Given the description of an element on the screen output the (x, y) to click on. 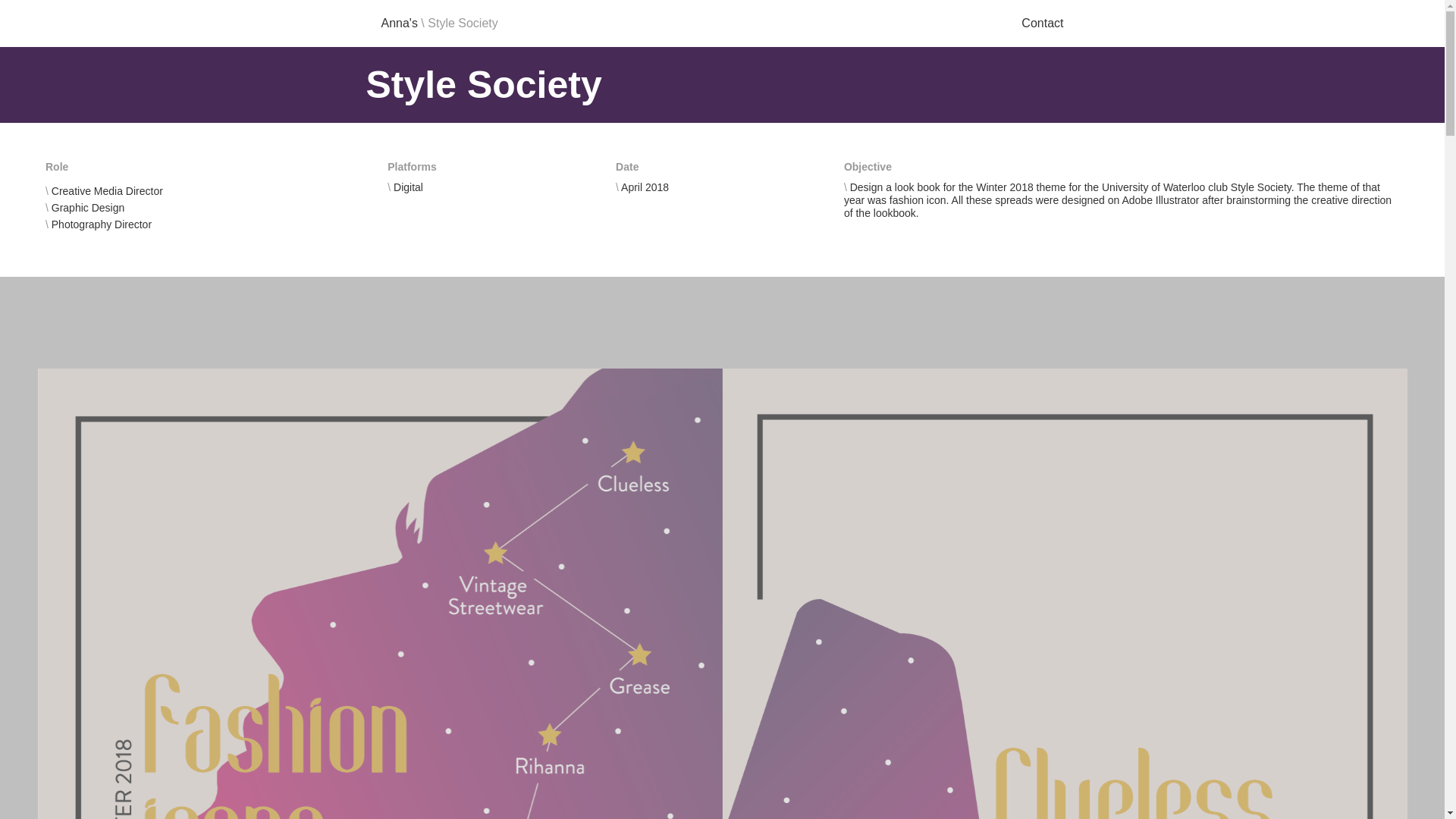
Contact Element type: text (1042, 23)
Anna's \ Style Society Element type: text (438, 23)
